Given the description of an element on the screen output the (x, y) to click on. 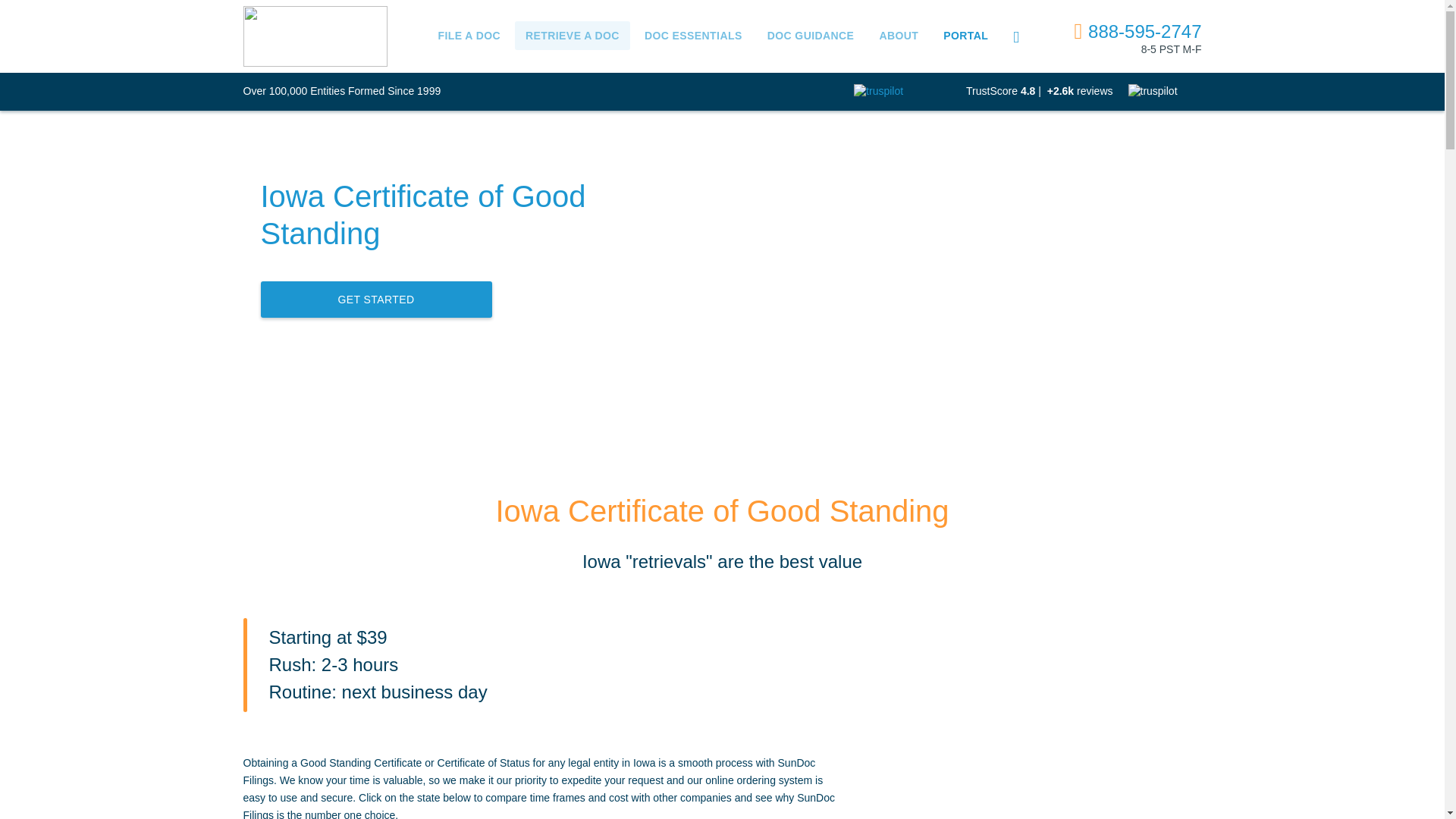
DOC ESSENTIALS (692, 35)
DOC GUIDANCE (810, 35)
RETRIEVE A DOC (572, 35)
FILE A DOC (470, 35)
